Given the description of an element on the screen output the (x, y) to click on. 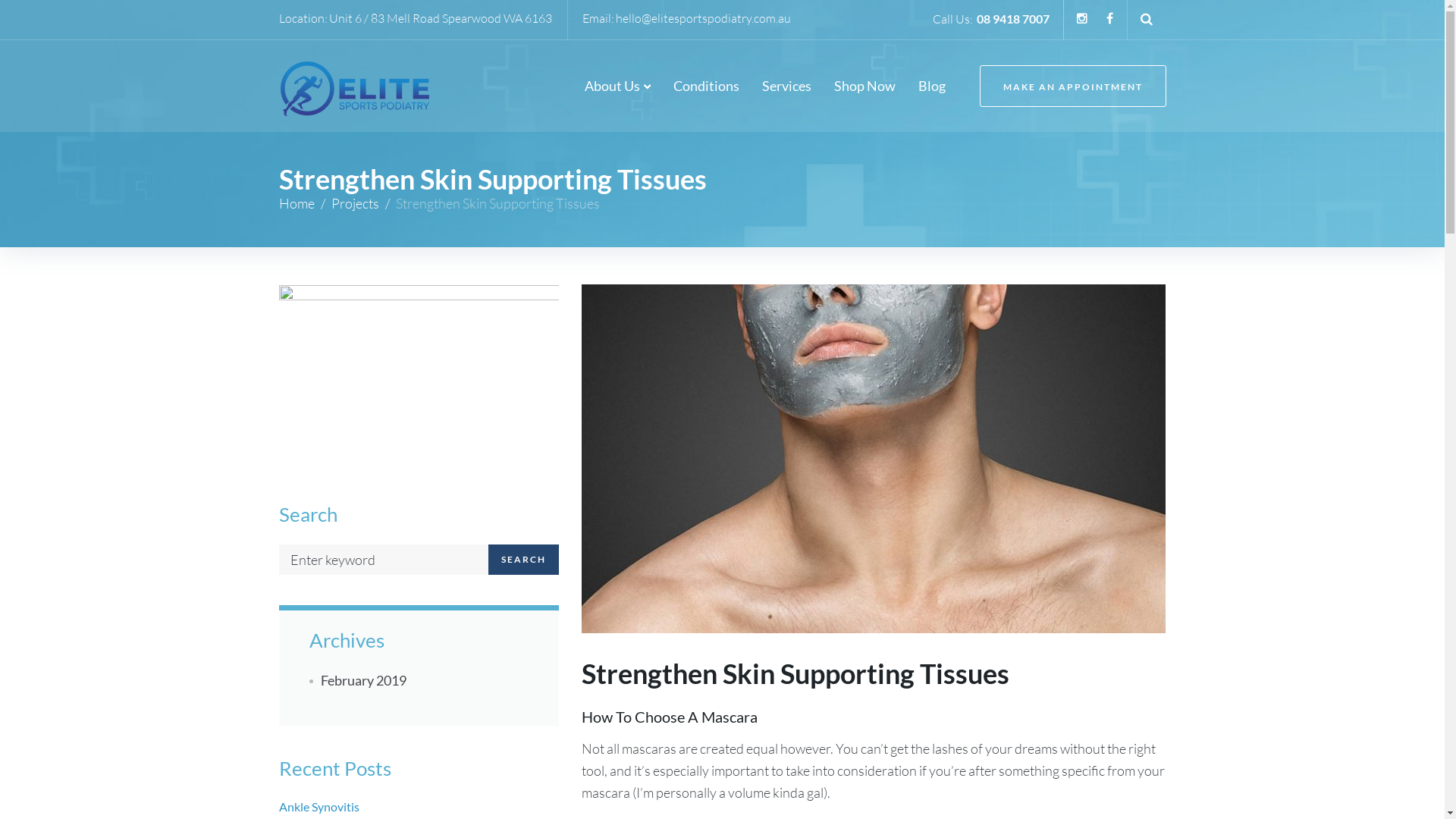
Search for: Element type: hover (384, 559)
SEARCH Element type: text (523, 559)
Ankle Synovitis Element type: text (419, 806)
About Us Element type: text (616, 85)
MAKE AN APPOINTMENT Element type: text (1072, 85)
Conditions Element type: text (705, 85)
Home Element type: text (296, 202)
hello@elitesportspodiatry.com.au Element type: text (702, 18)
08 9418 7007 Element type: text (1012, 18)
Blog Element type: text (931, 85)
February 2019 Element type: text (357, 679)
Projects Element type: text (354, 202)
Shop Now Element type: text (864, 85)
Services Element type: text (785, 85)
